Given the description of an element on the screen output the (x, y) to click on. 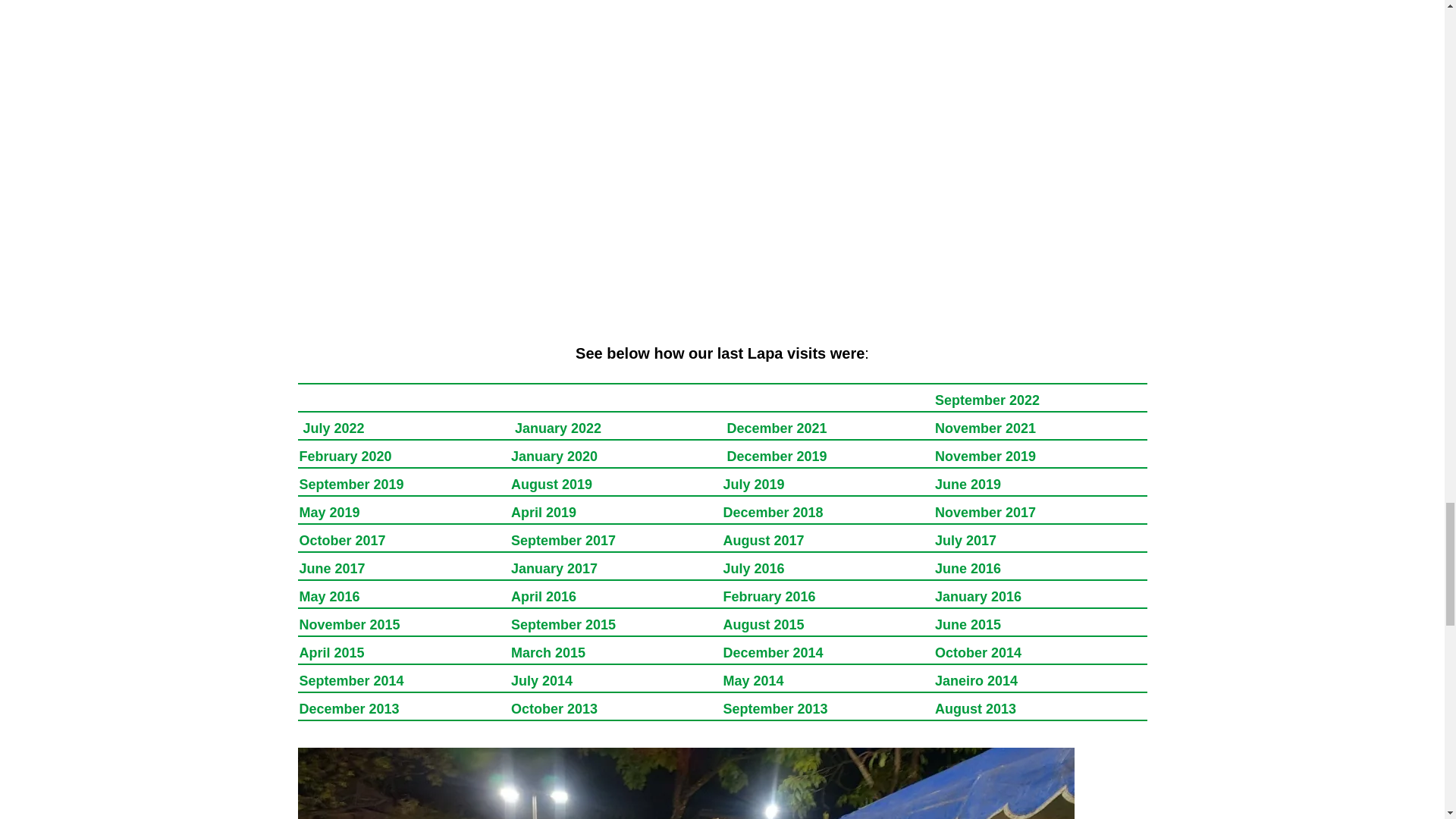
Pics at Lapa (975, 680)
Portuguese at Lapa (350, 680)
September RioLIVE! Activity (775, 708)
Lapa and fun (548, 652)
August RioLIVE! visit (975, 708)
At Lapa (773, 652)
Outubro RioLIVE! (553, 708)
Caipirinha and fun at Lapa (331, 652)
Caipirinhas at Lapa (978, 652)
Lapa! (348, 708)
